Given the description of an element on the screen output the (x, y) to click on. 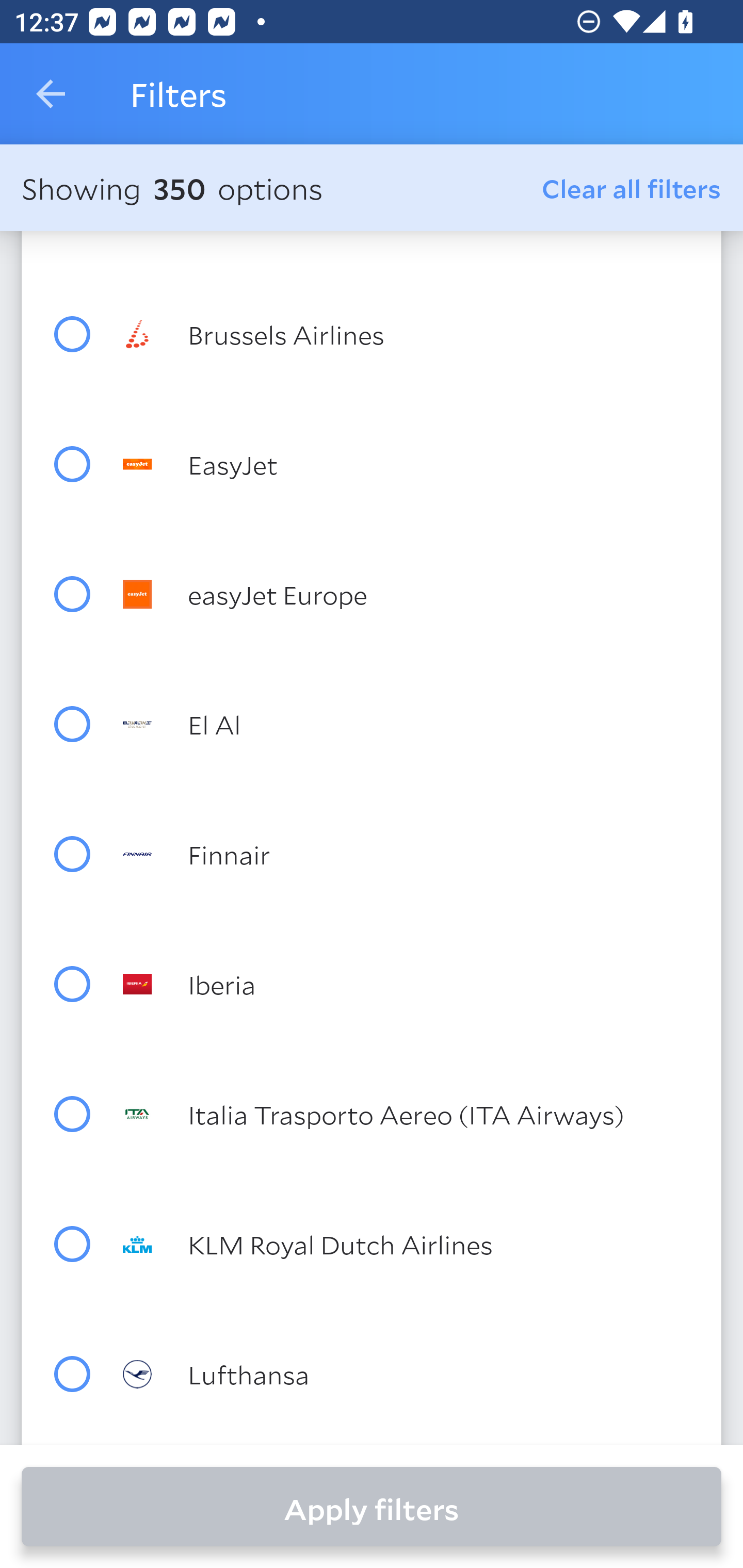
Navigate up (50, 93)
Clear all filters (631, 187)
Brussels Airlines (407, 333)
EasyJet (407, 463)
easyJet Europe (407, 594)
El Al (407, 724)
Finnair (407, 854)
Iberia (407, 983)
Italia Trasporto Aereo (ITA Airways) (407, 1113)
KLM Royal Dutch Airlines (407, 1243)
Lufthansa (407, 1373)
Apply filters (371, 1506)
